Given the description of an element on the screen output the (x, y) to click on. 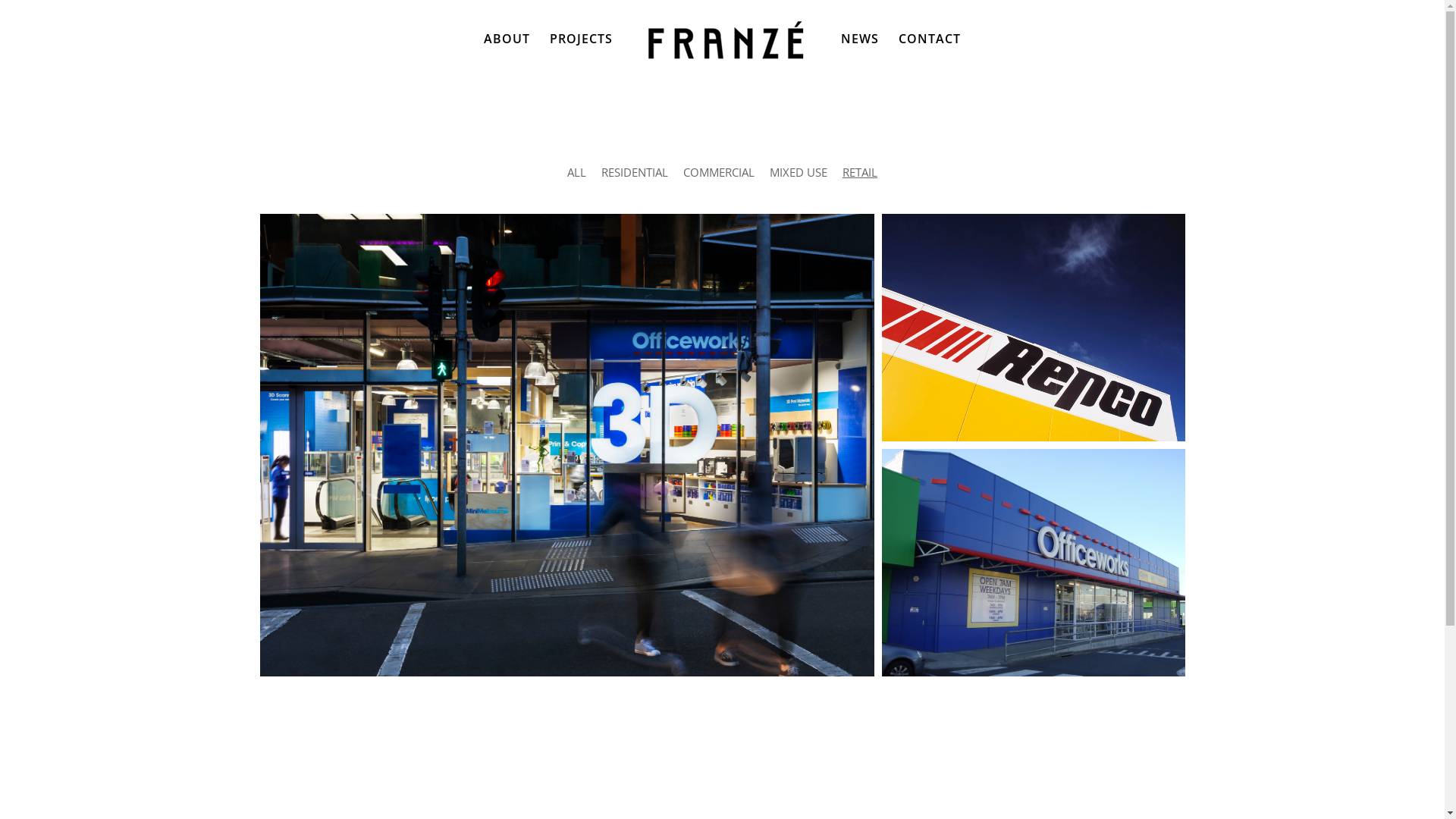
COMMERCIAL Element type: text (718, 171)
RETAIL Element type: text (859, 171)
MIXED USE Element type: text (798, 171)
OFFICEWORKS Element type: hover (1051, 672)
CONTACT Element type: text (929, 55)
PROJECTS Element type: text (580, 55)
REPCO Element type: hover (1032, 455)
NEWS Element type: text (859, 55)
ABOUT Element type: text (506, 55)
RESIDENTIAL Element type: text (634, 171)
ALL Element type: text (576, 171)
